Given the description of an element on the screen output the (x, y) to click on. 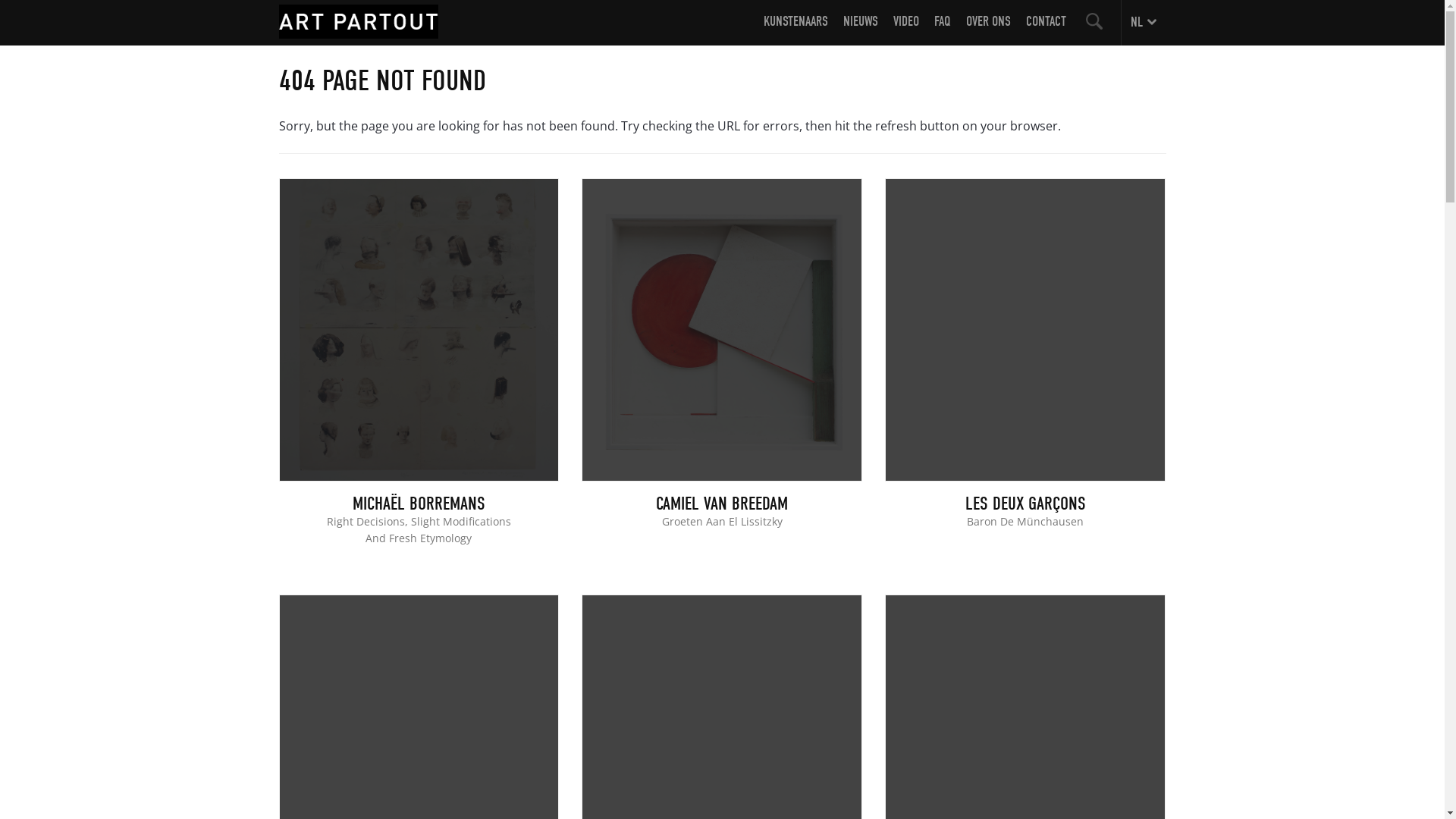
NIEUWS Element type: text (860, 28)
VIDEO Element type: text (906, 28)
NL Element type: text (1143, 22)
OVER ONS Element type: text (988, 28)
CONTACT Element type: text (1045, 28)
KUNSTENAARS Element type: text (794, 28)
FAQ Element type: text (942, 28)
